Given the description of an element on the screen output the (x, y) to click on. 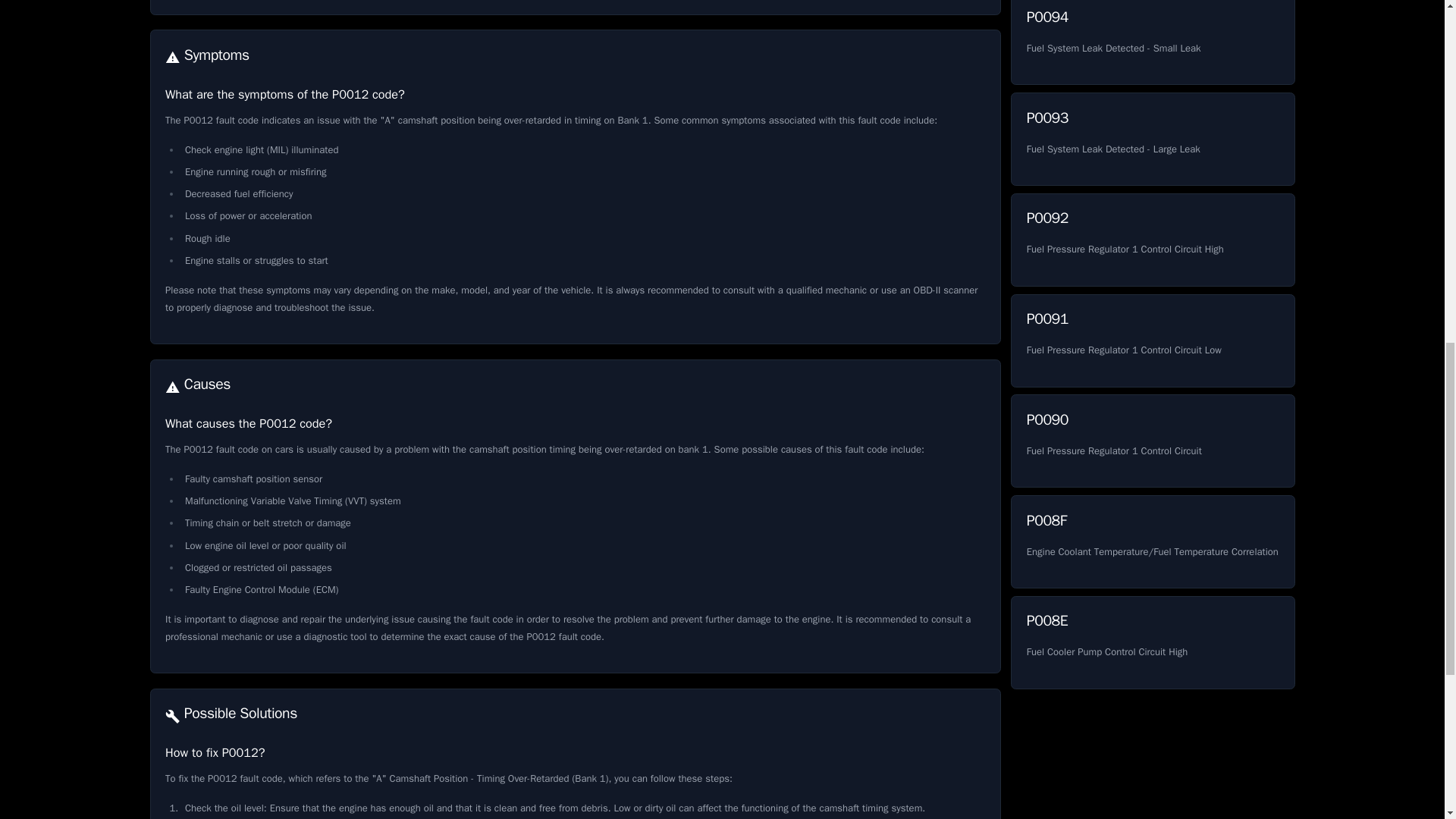
P0092 (1152, 239)
P0094 (1152, 138)
P008E (1152, 42)
P0090 (1152, 42)
P008F (1152, 239)
P0093 (1152, 440)
P0091 (1152, 642)
